Given the description of an element on the screen output the (x, y) to click on. 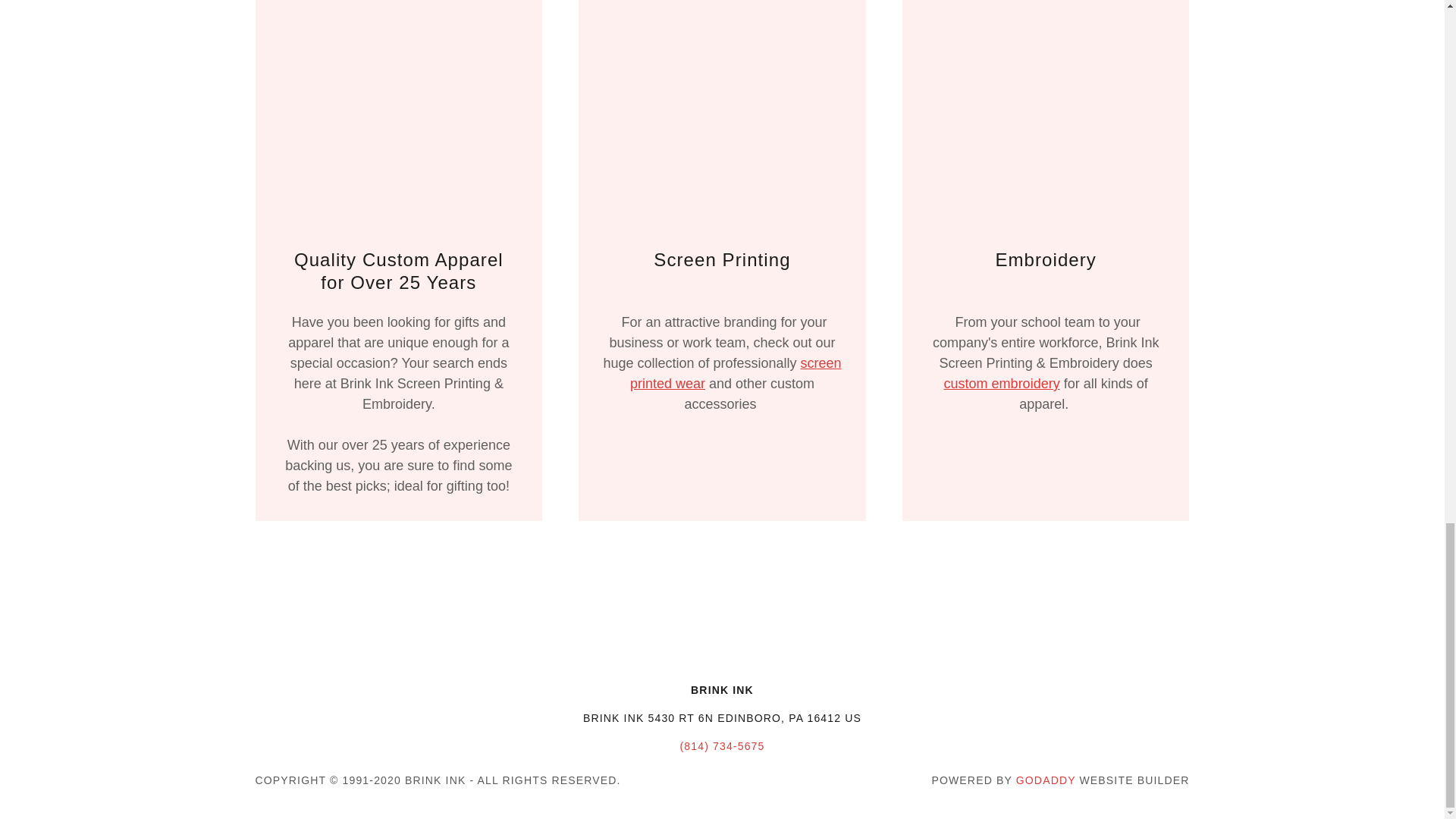
custom embroidery (1001, 383)
screen printed wear (735, 373)
GODADDY (1045, 779)
